Given the description of an element on the screen output the (x, y) to click on. 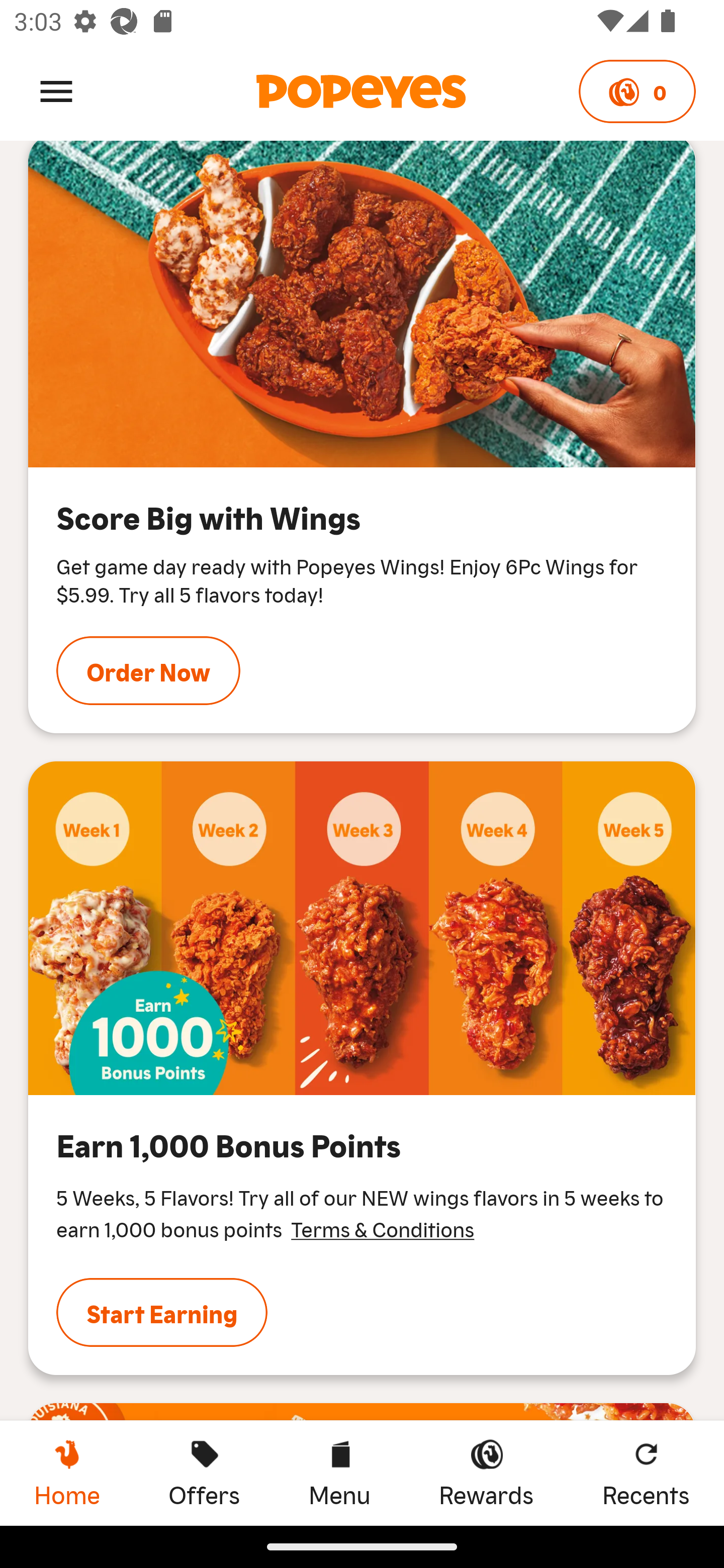
Menu  (56, 90)
0 Points 0 (636, 91)
Score Big with Wings (361, 304)
Order Now (148, 670)
Earn 1,000 Bonus Points (361, 928)
Start Earning (161, 1311)
Home, current page Home Home, current page (66, 1472)
Offers Offers Offers (203, 1472)
Menu Menu Menu (339, 1472)
Rewards Rewards Rewards (486, 1472)
Recents Recents Recents (646, 1472)
